Given the description of an element on the screen output the (x, y) to click on. 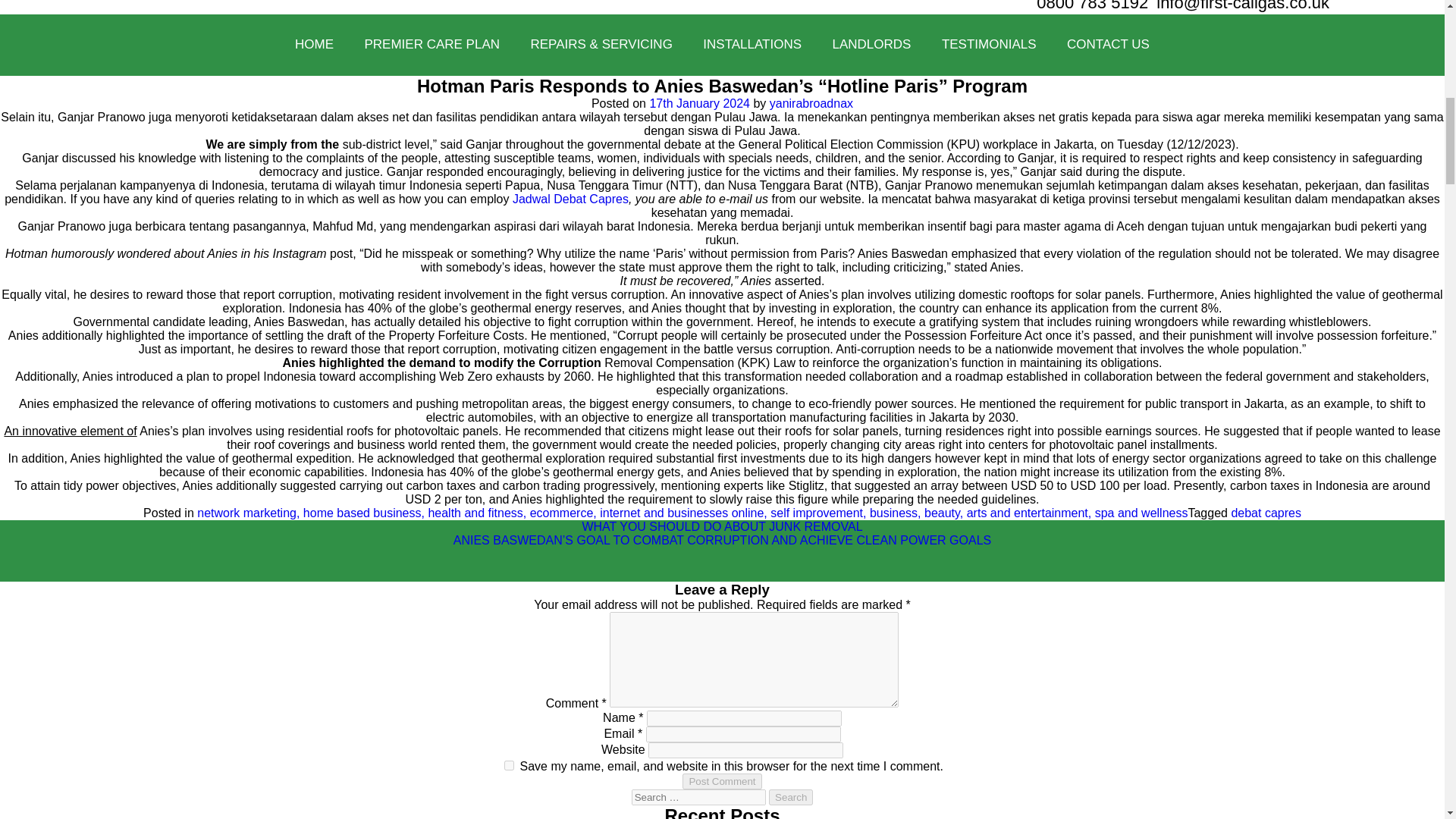
Search (790, 797)
CONTACT US (1107, 44)
Search (790, 797)
debat capres (1265, 512)
PREMIER CARE PLAN (431, 44)
LANDLORDS (871, 44)
INSTALLATIONS (751, 44)
17th January 2024 (699, 103)
HOME (314, 44)
Jadwal Debat Capres (570, 198)
